Given the description of an element on the screen output the (x, y) to click on. 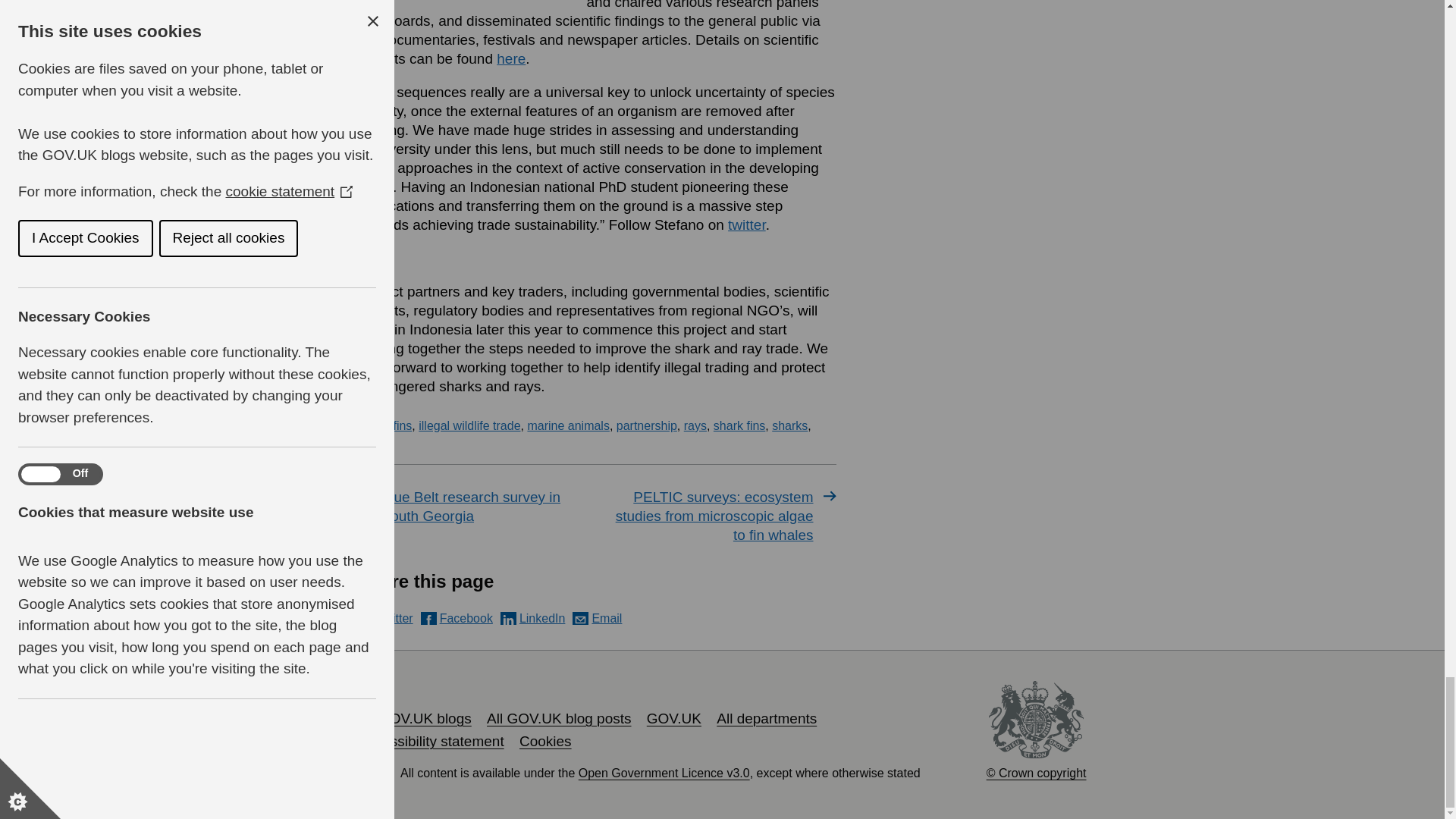
partnership (646, 425)
sharks (789, 425)
illegal wildlife trade (469, 425)
twitter (746, 224)
shark fins (739, 425)
here (510, 58)
rays (695, 425)
fins (402, 425)
marine animals (567, 425)
